Given the description of an element on the screen output the (x, y) to click on. 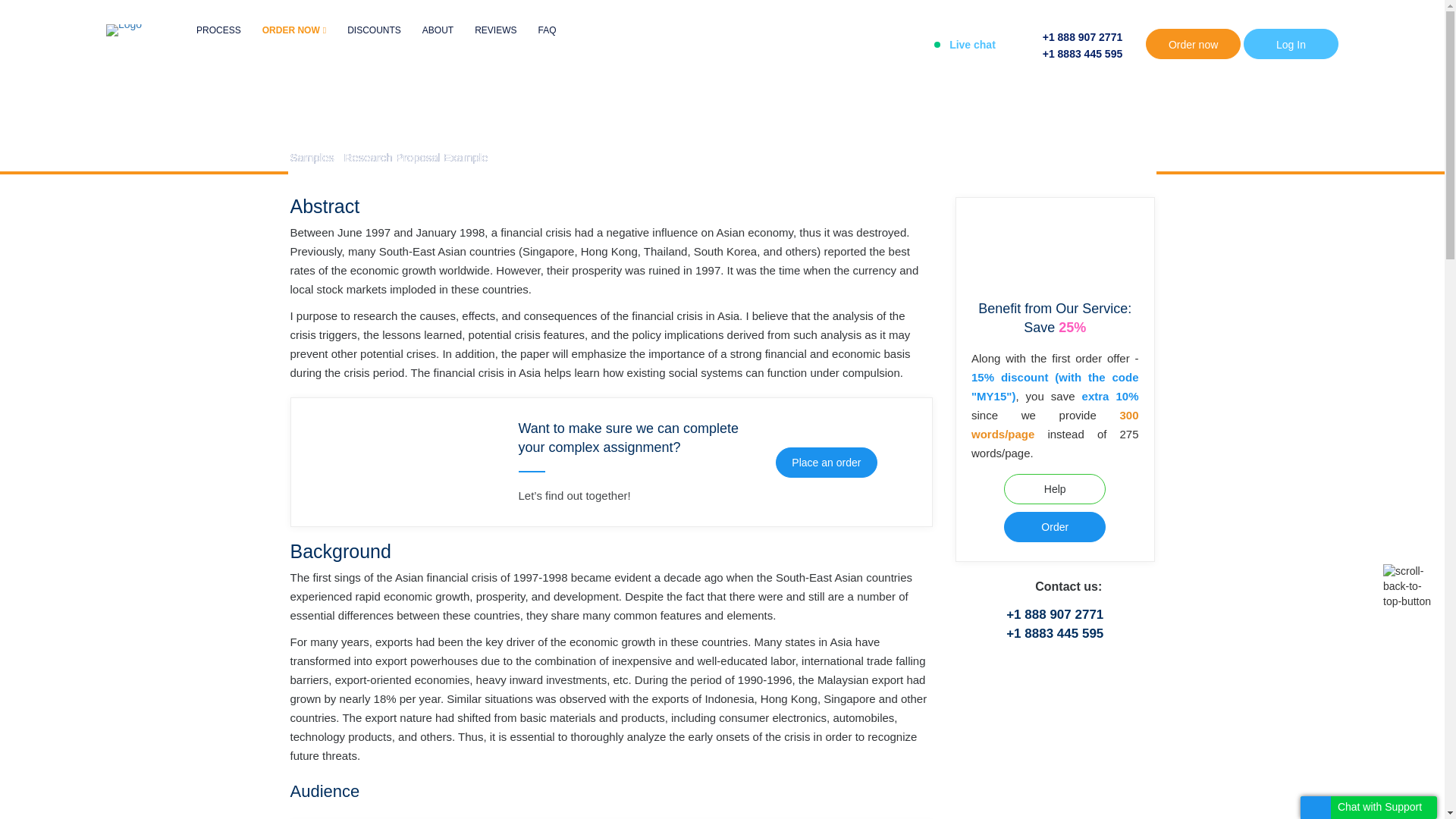
ABOUT (437, 30)
REVIEWS (495, 30)
FAQ (546, 30)
Live chat (964, 44)
DISCOUNTS (374, 30)
Log In (1290, 43)
PROCESS (218, 30)
ORDER NOW (294, 30)
Order now (1192, 43)
